Given the description of an element on the screen output the (x, y) to click on. 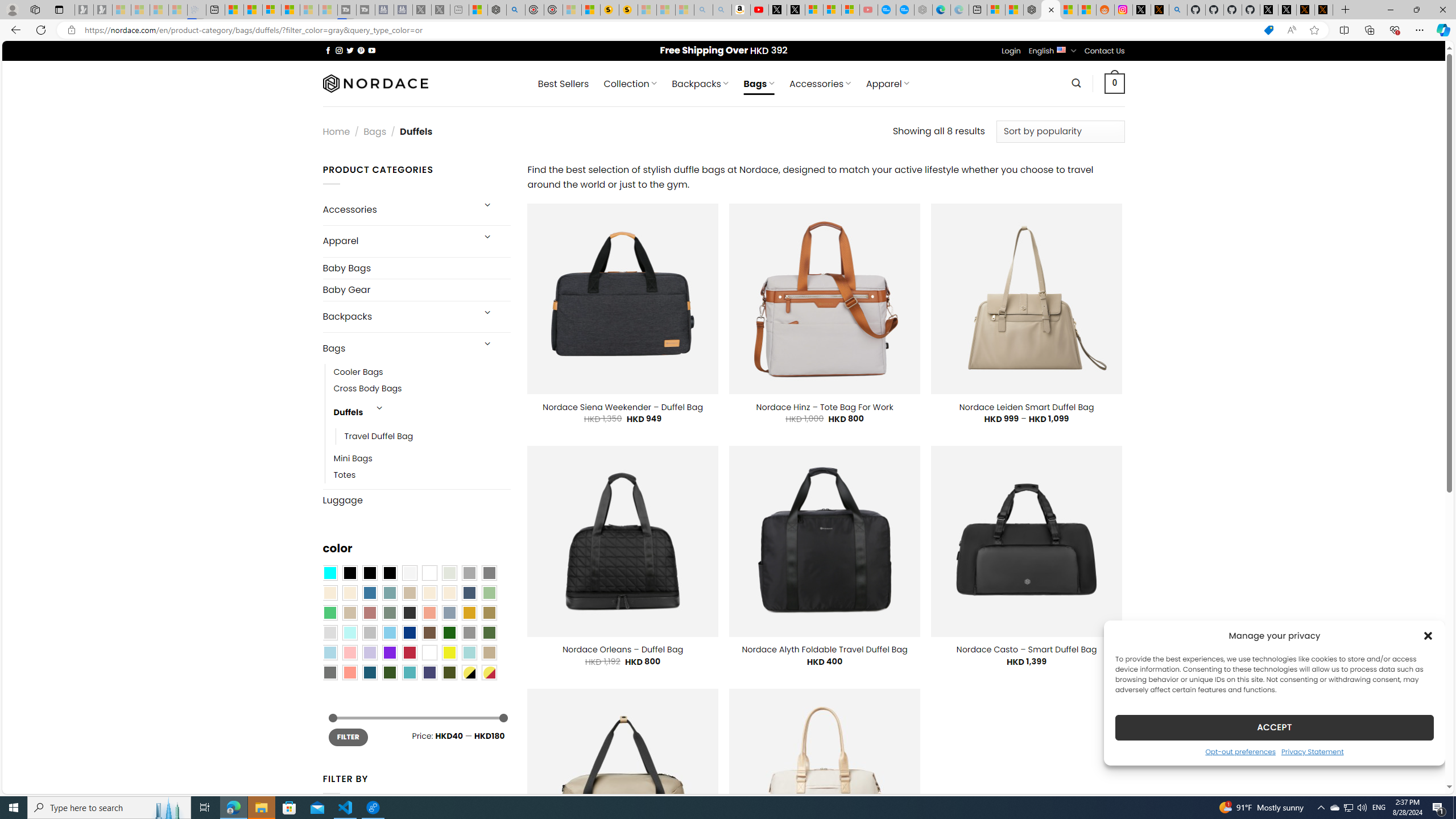
Cream (449, 592)
amazon - Search - Sleeping (702, 9)
 0  (1115, 83)
Sage (389, 613)
Baby Bags (416, 267)
Privacy Statement (1312, 750)
